Given the description of an element on the screen output the (x, y) to click on. 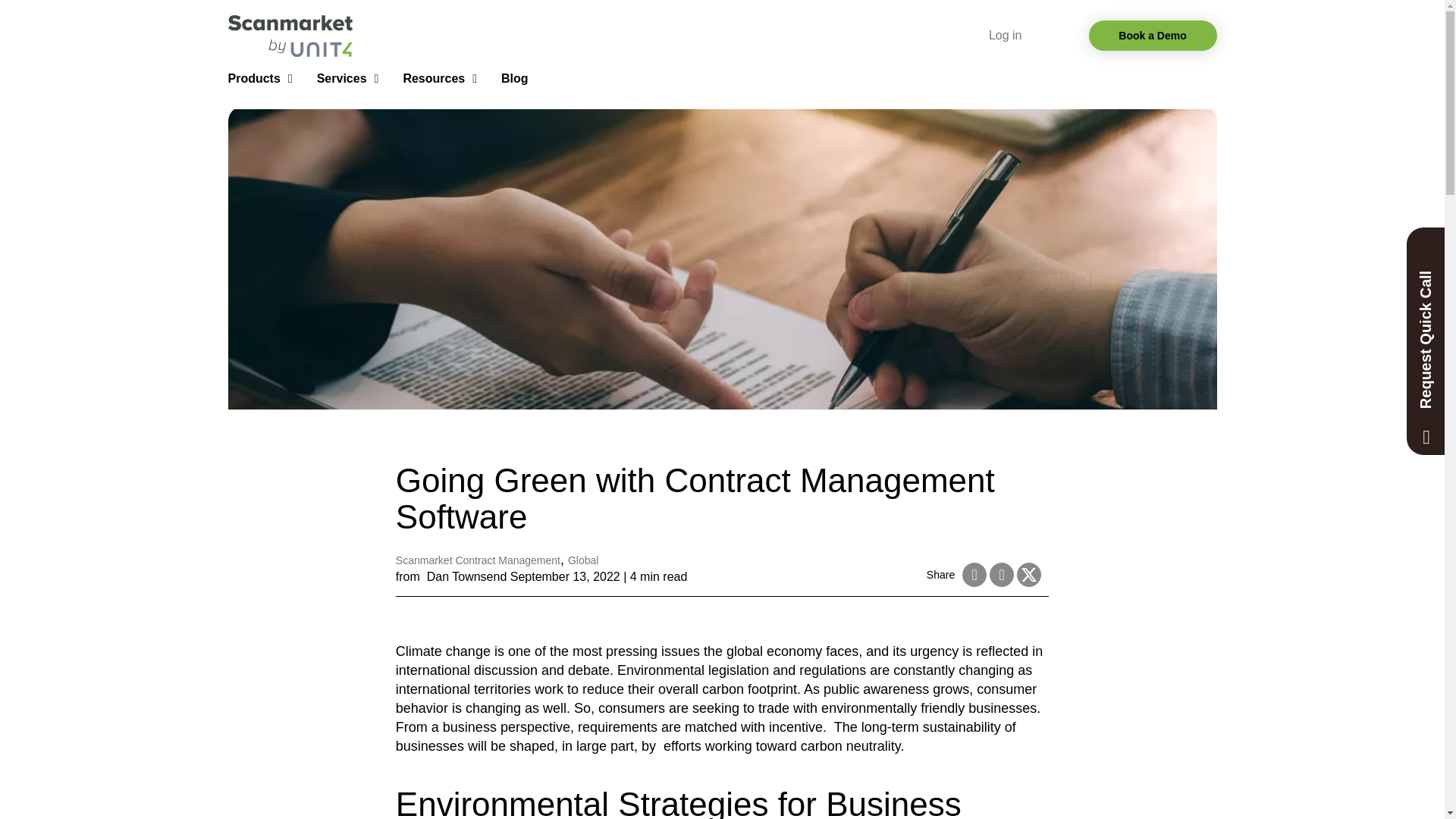
Global (582, 560)
Scanmarket Contract Management (478, 560)
Book a Demo (1153, 35)
Search (15, 16)
Blog (514, 78)
Home (289, 35)
Dan Townsend (466, 577)
Log in (1005, 35)
